Given the description of an element on the screen output the (x, y) to click on. 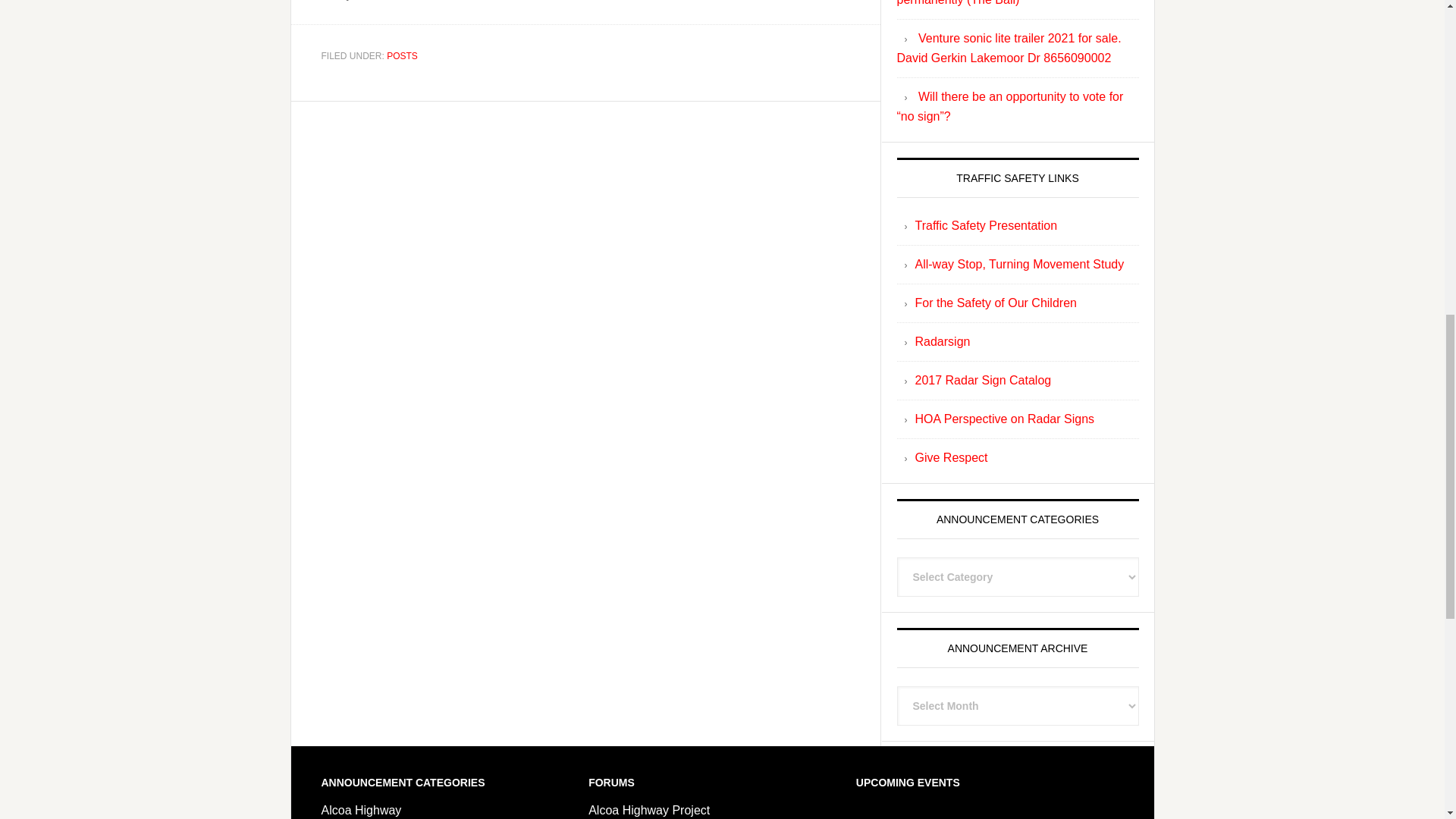
POSTS (402, 55)
